Given the description of an element on the screen output the (x, y) to click on. 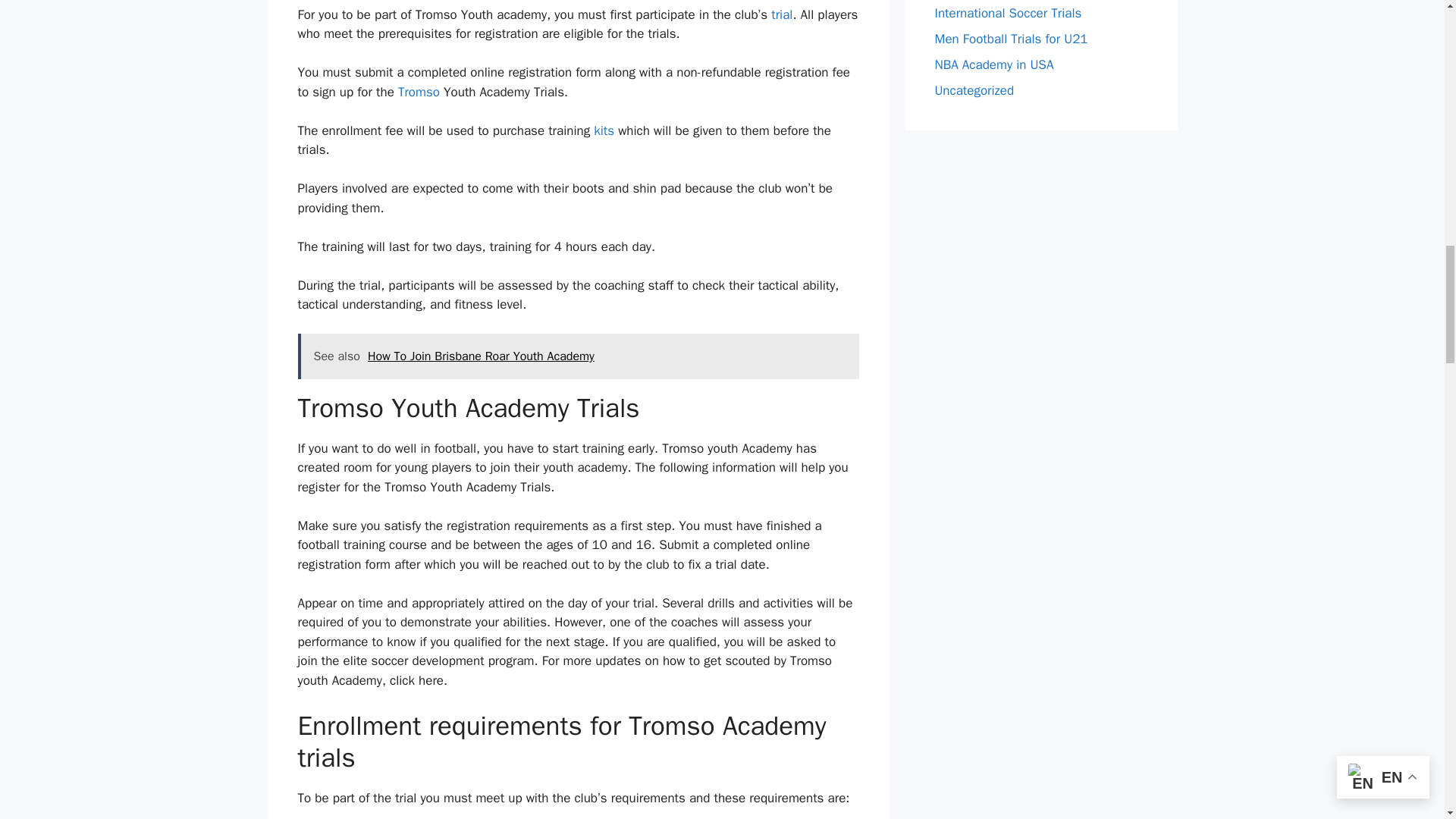
kits (604, 130)
trial (781, 14)
See also  How To Join Brisbane Roar Youth Academy (578, 356)
Tromso (418, 91)
